Given the description of an element on the screen output the (x, y) to click on. 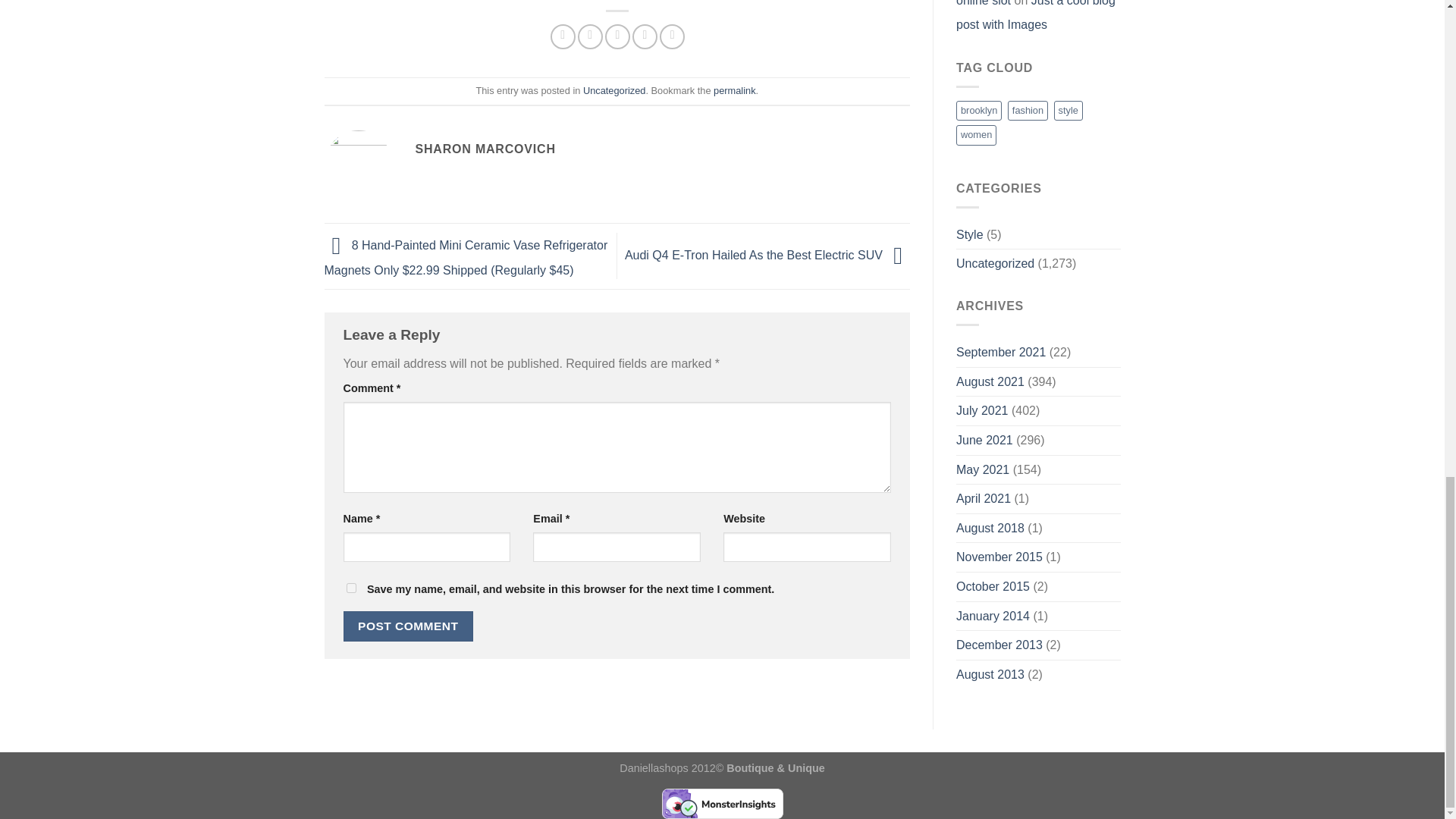
Share on Facebook (562, 36)
Uncategorized (614, 90)
yes (350, 587)
Share on Telegram (671, 36)
Email to a Friend (617, 36)
Post Comment (407, 625)
permalink (734, 90)
Audi Q4 E-Tron Hailed As the Best Electric SUV (767, 254)
Post Comment (407, 625)
Permalink to Samsung Galaxy Watch Active 4 design leaked (734, 90)
